Given the description of an element on the screen output the (x, y) to click on. 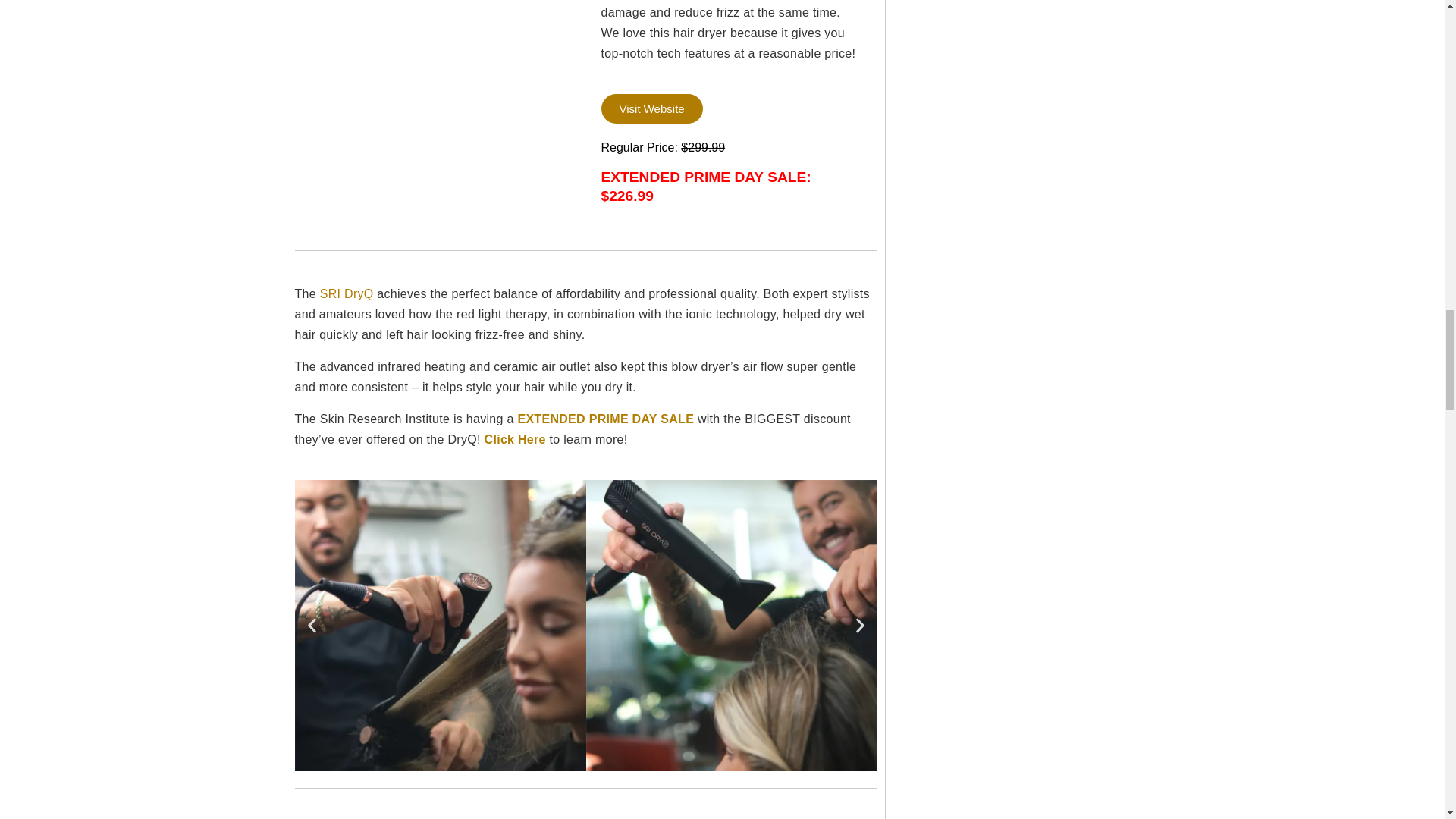
EXTENDED PRIME DAY SALE (605, 418)
Click Here (515, 439)
SRI DryQ  (348, 293)
Visit Website (650, 108)
